Given the description of an element on the screen output the (x, y) to click on. 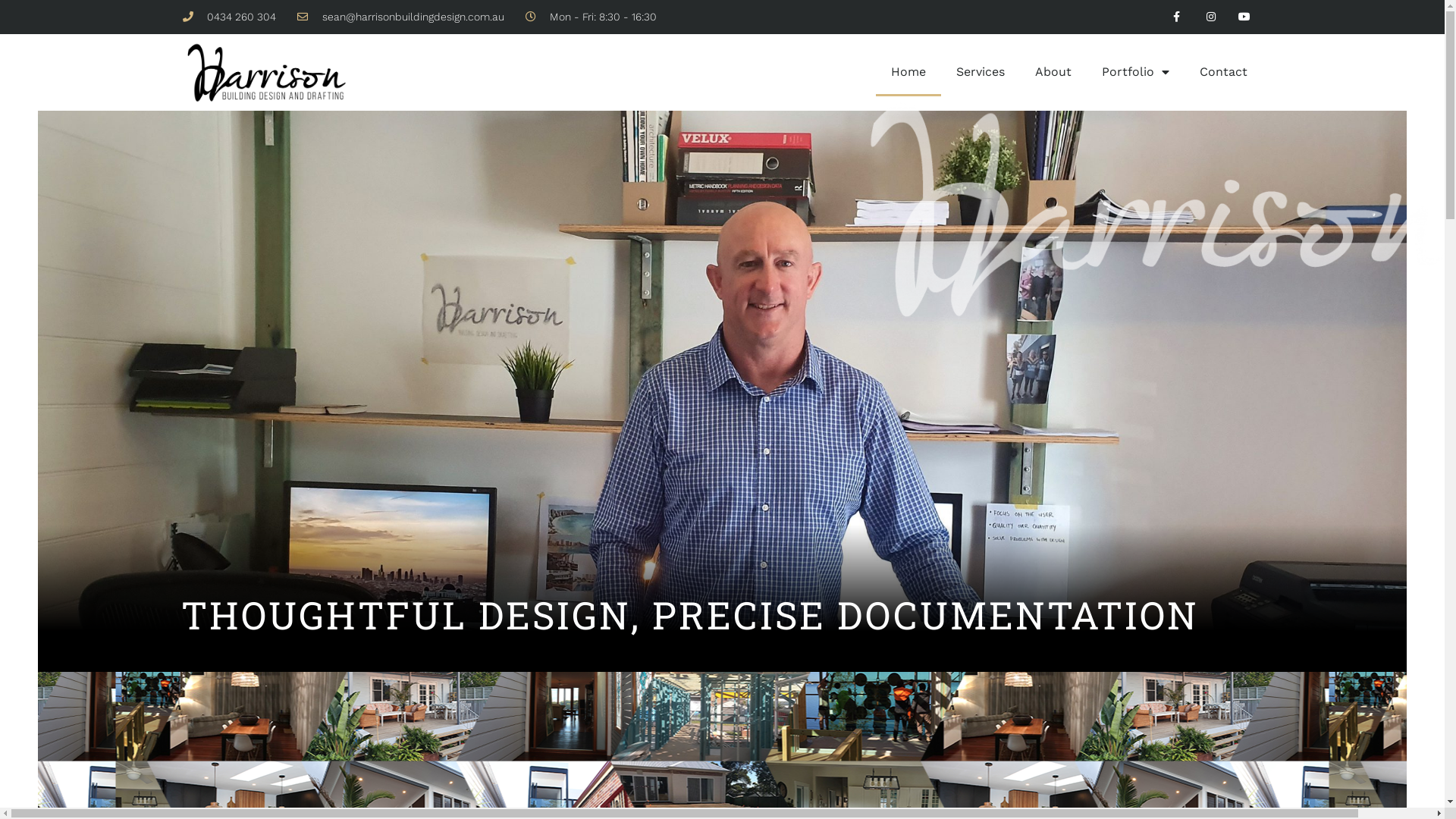
sean@harrisonbuildingdesign.com.au Element type: text (400, 17)
Portfolio Element type: text (1134, 71)
0434 260 304 Element type: text (229, 17)
About Element type: text (1052, 71)
Contact Element type: text (1223, 71)
Home Element type: text (907, 71)
Services Element type: text (979, 71)
